Given the description of an element on the screen output the (x, y) to click on. 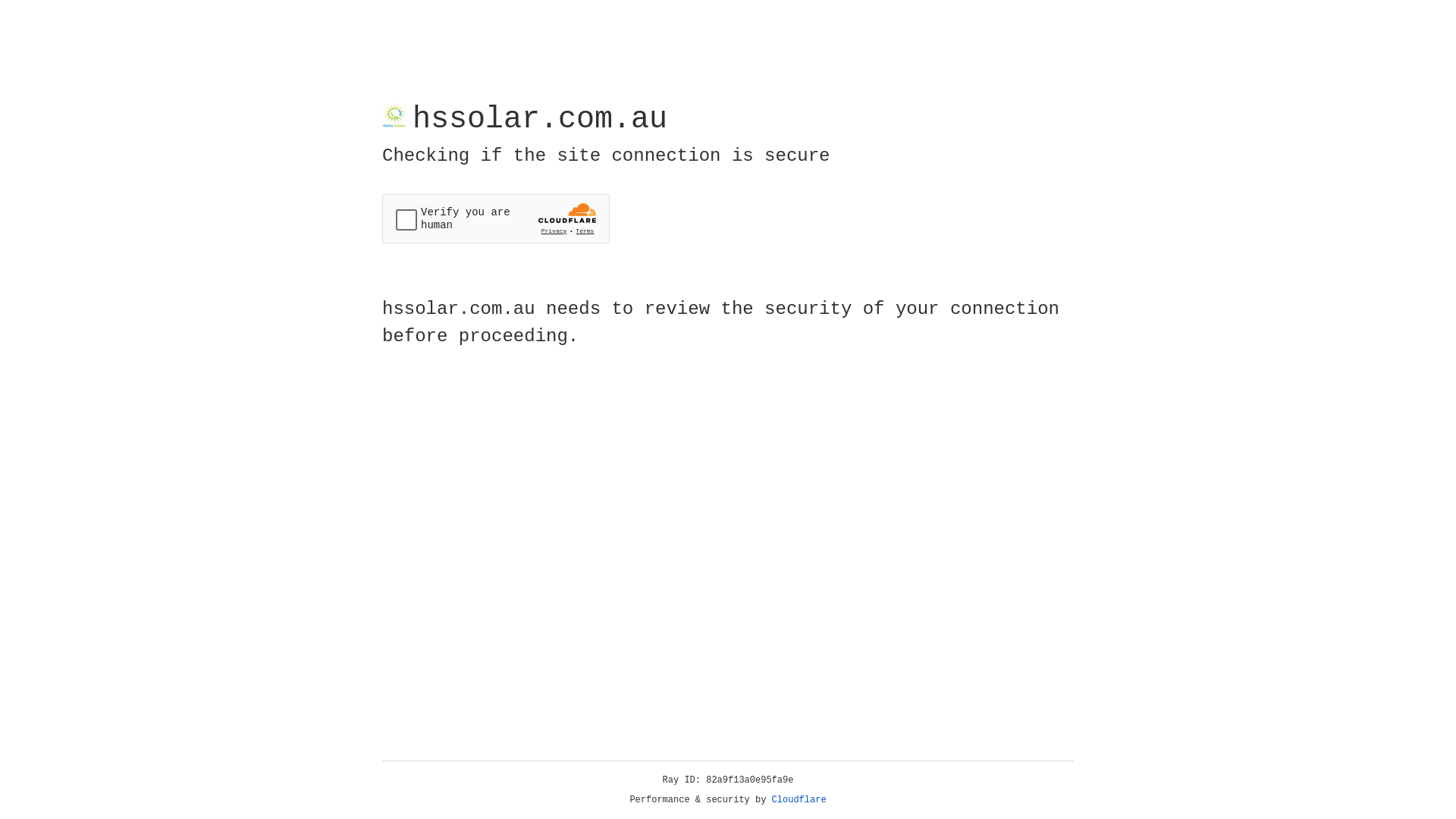
Widget containing a Cloudflare security challenge Element type: hover (495, 218)
Cloudflare Element type: text (798, 799)
